Given the description of an element on the screen output the (x, y) to click on. 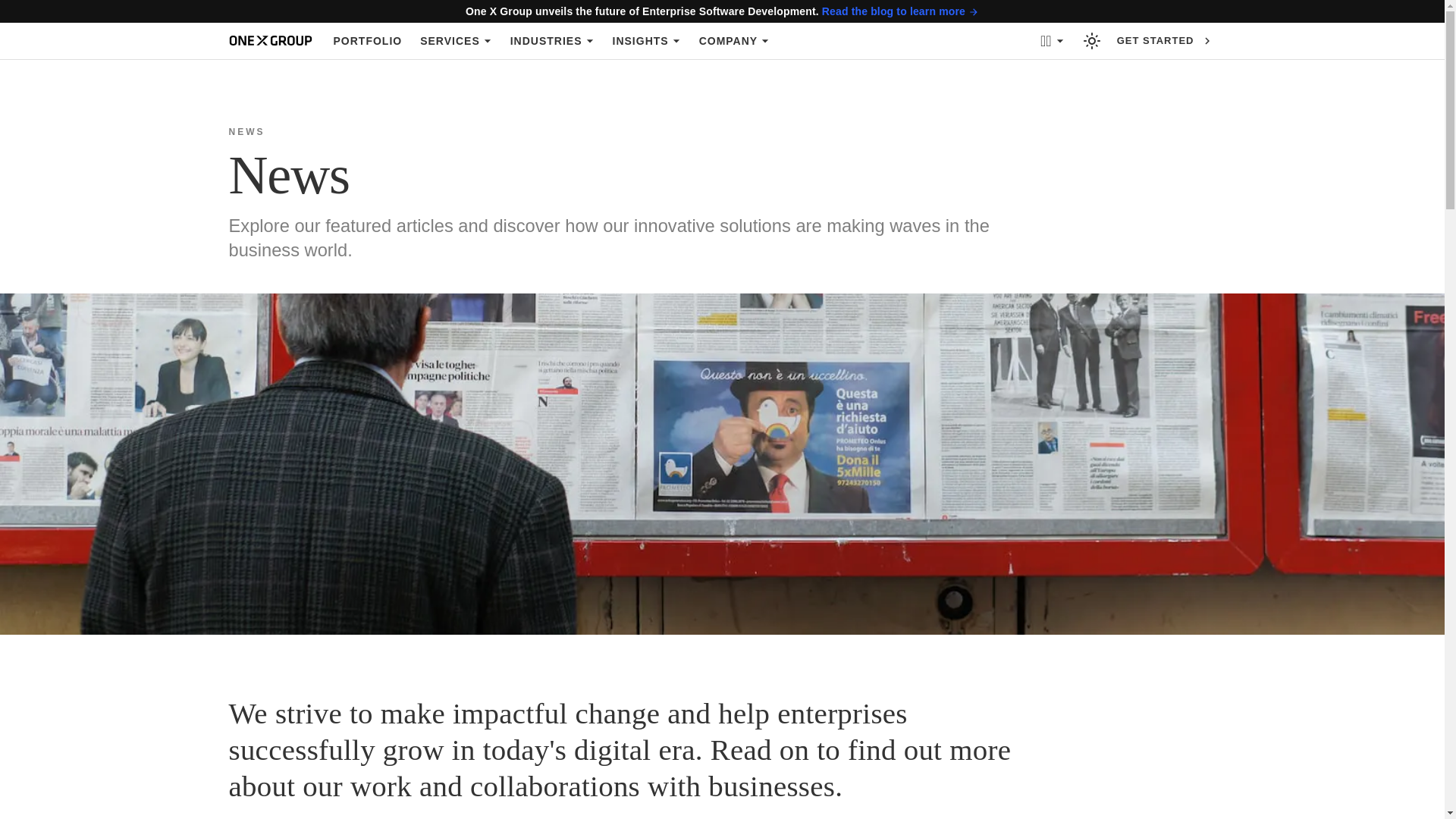
Read the blog to learn more (900, 11)
PORTFOLIO (368, 40)
COMPANY (734, 40)
GET STARTED (1164, 41)
INSIGHTS (647, 40)
SERVICES (455, 40)
INDUSTRIES (552, 40)
